Given the description of an element on the screen output the (x, y) to click on. 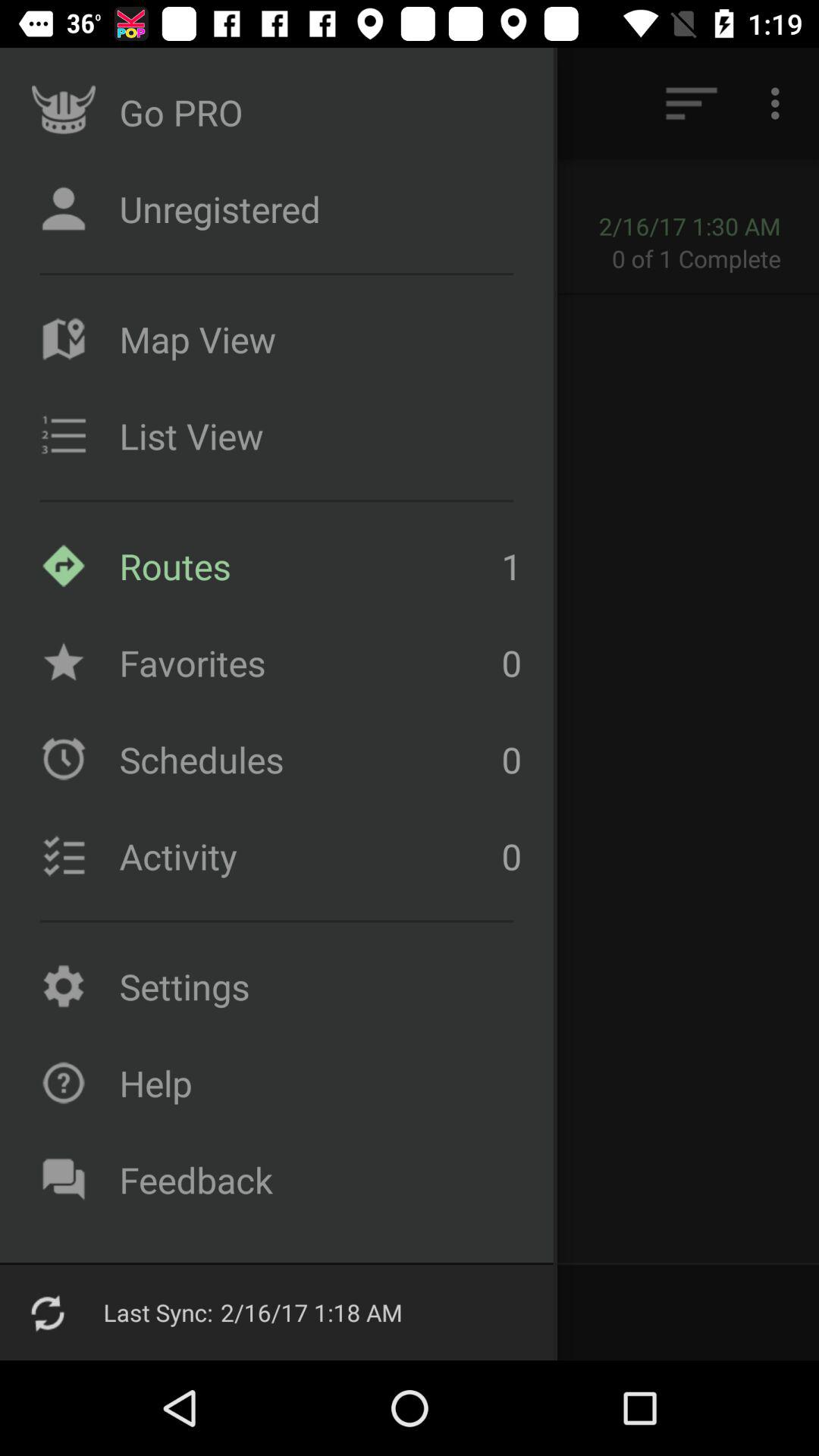
turn on the icon to the left of go pro icon (55, 103)
